Given the description of an element on the screen output the (x, y) to click on. 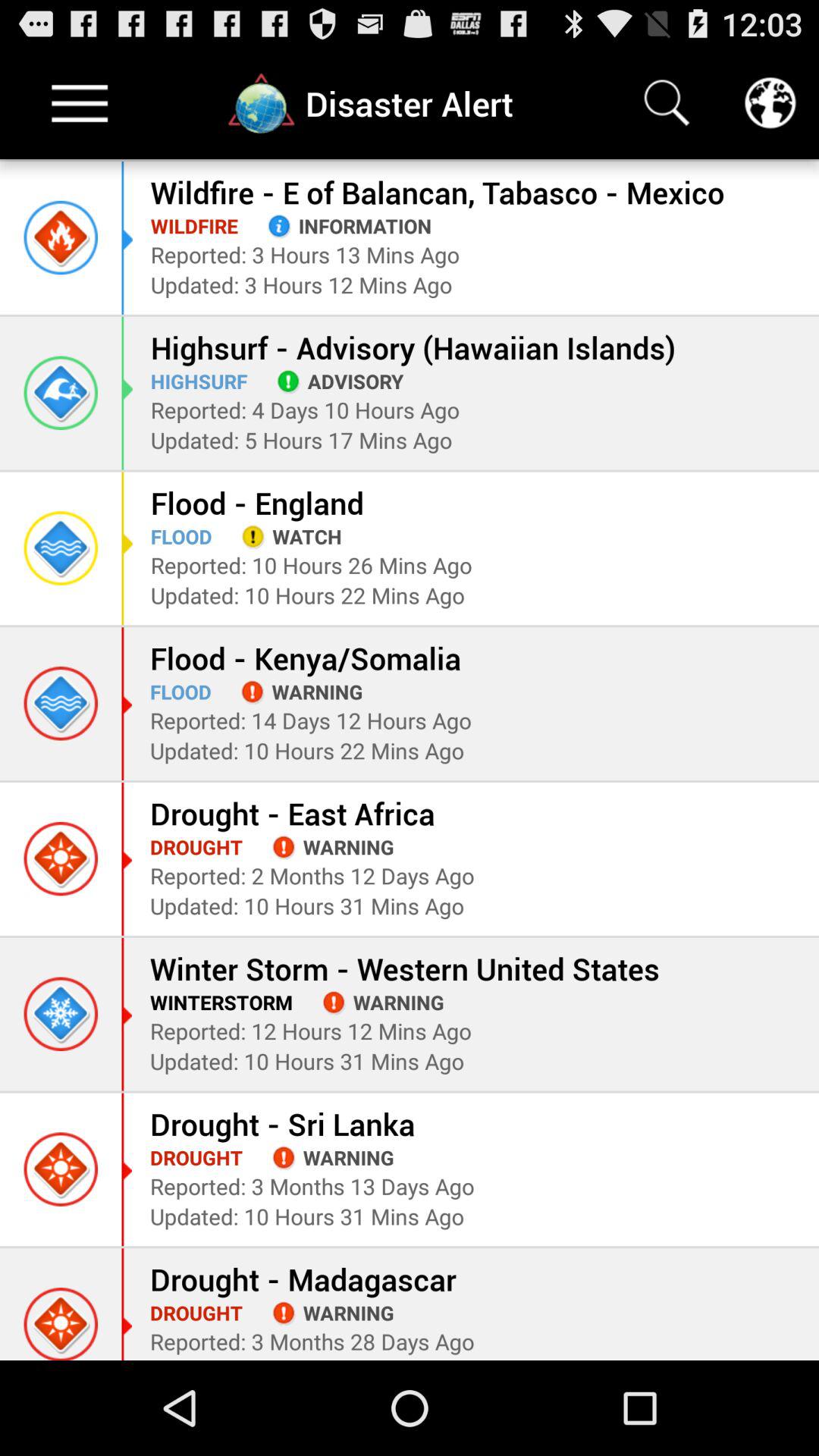
view the menu bar (79, 103)
